Given the description of an element on the screen output the (x, y) to click on. 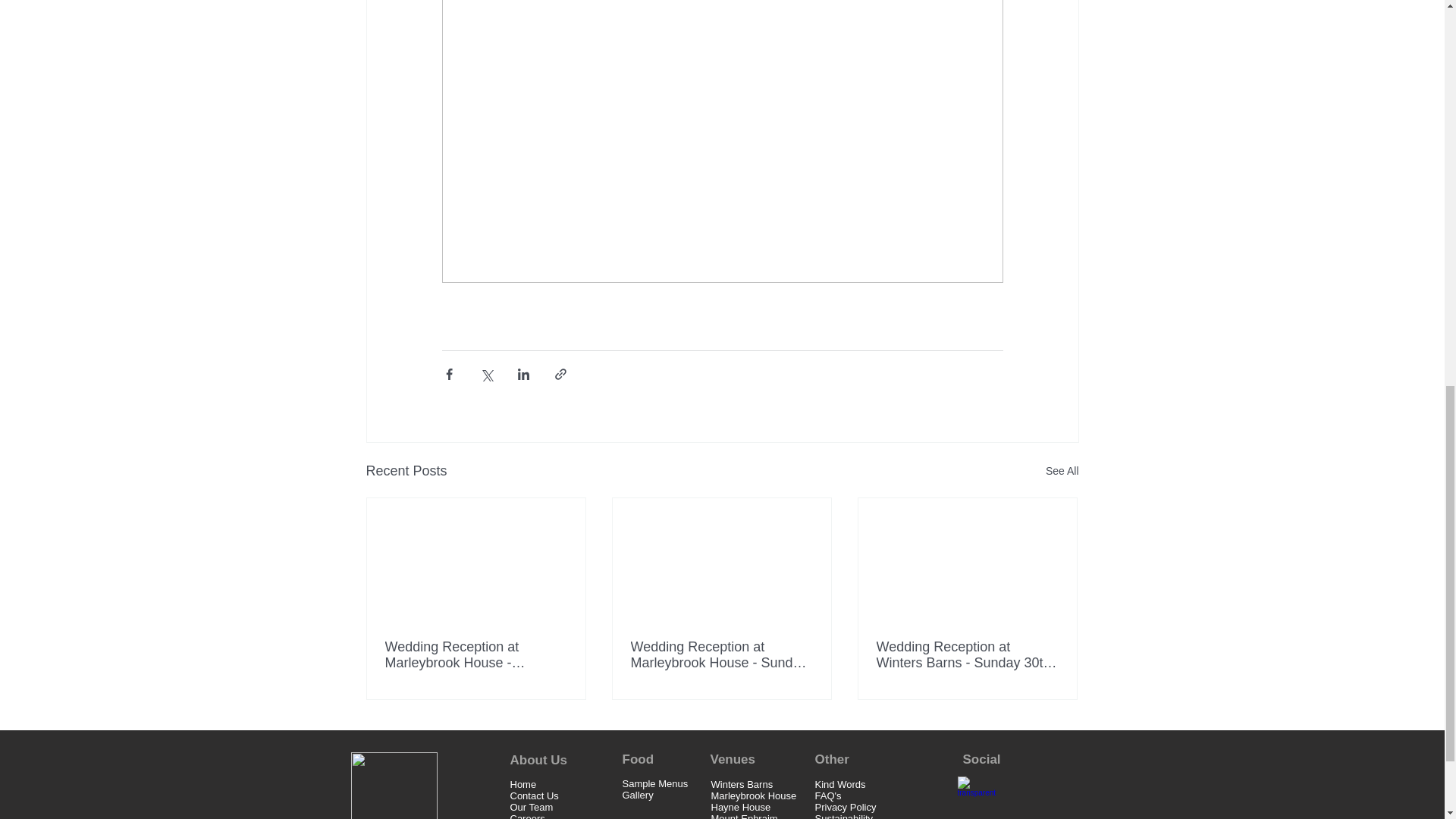
See All (1061, 471)
